Given the description of an element on the screen output the (x, y) to click on. 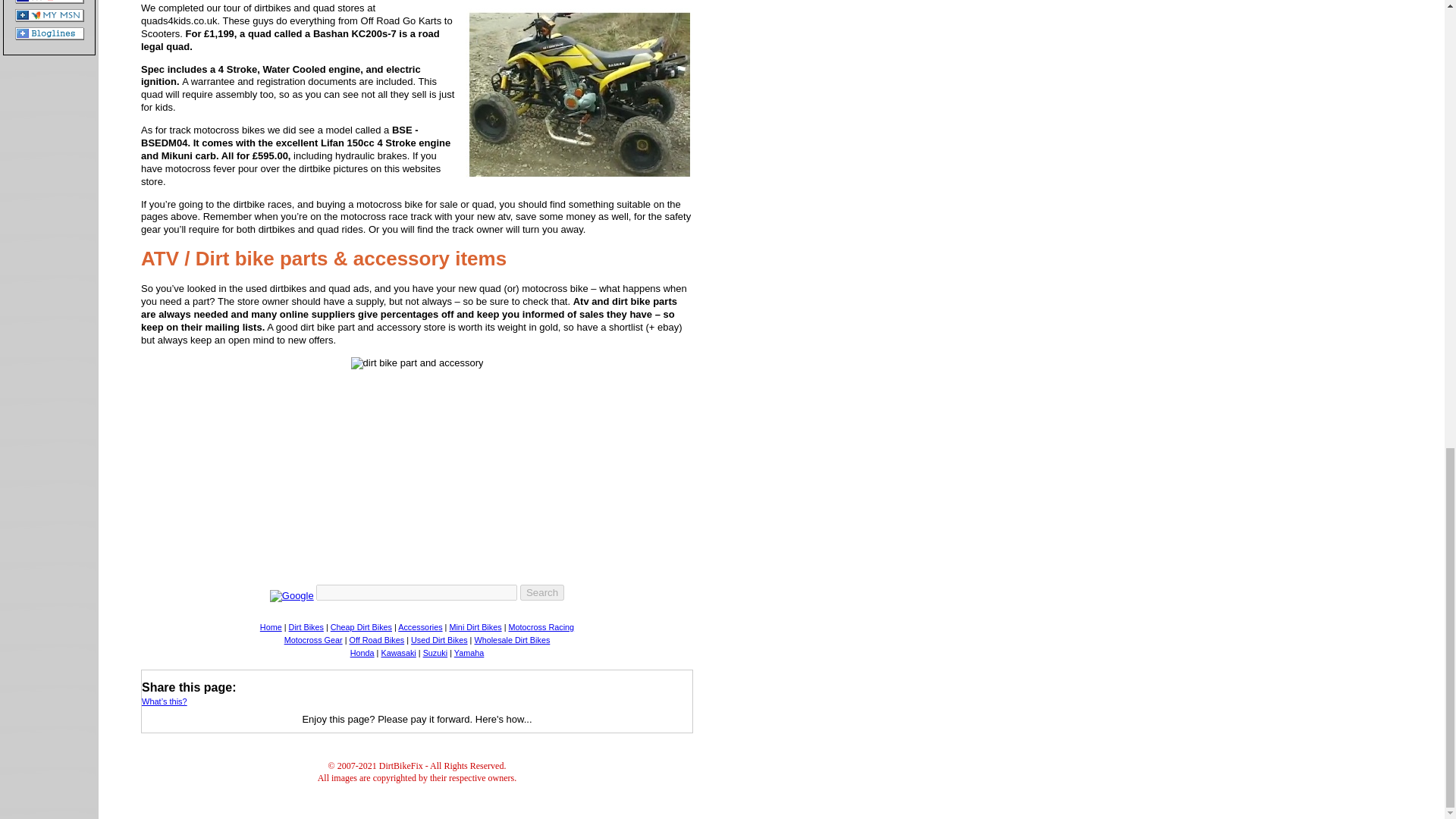
Search (541, 592)
bashan 200 atv quad bike (579, 96)
dirt bike part and accessory (416, 363)
